Given the description of an element on the screen output the (x, y) to click on. 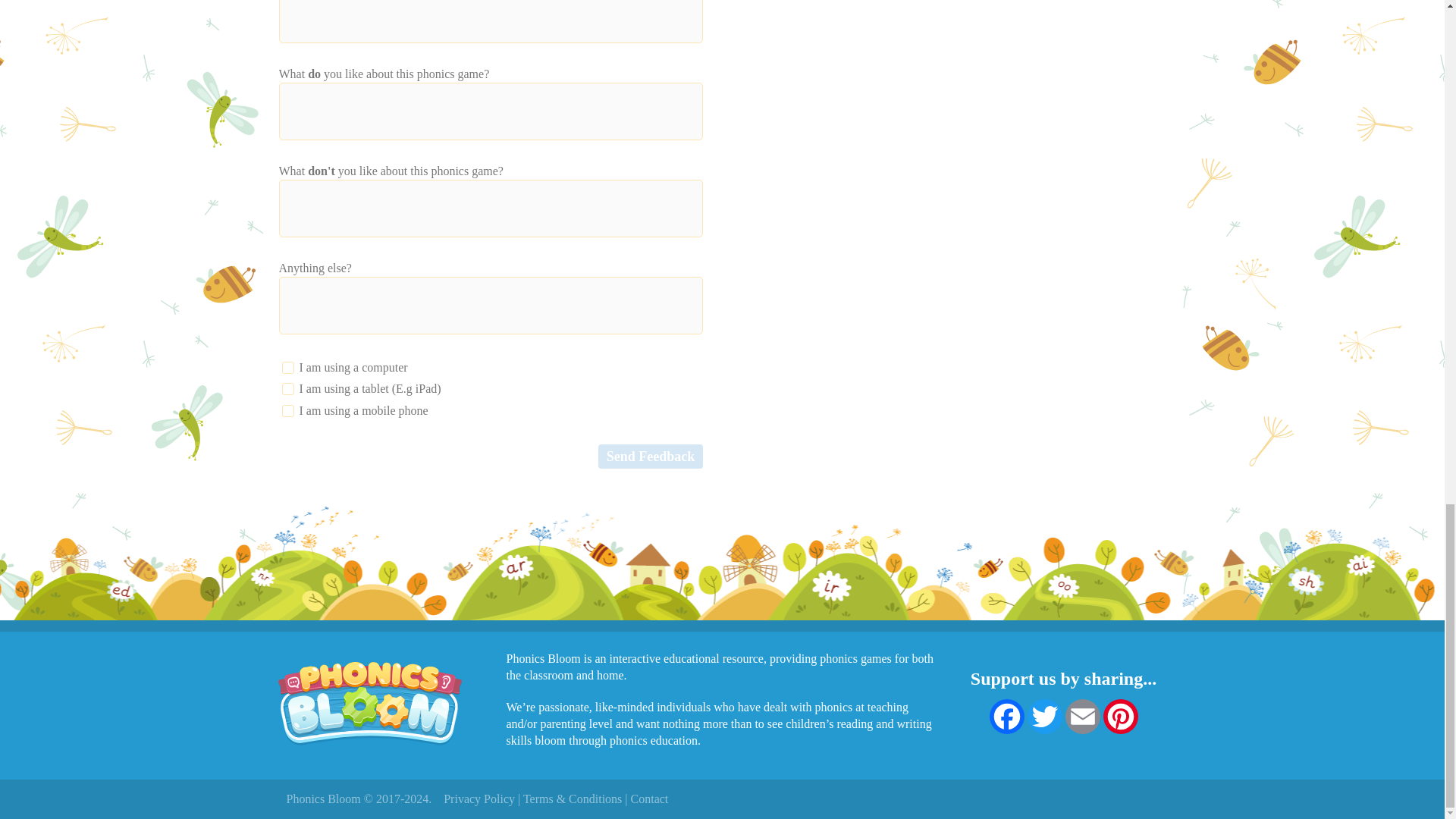
Send Feedback (650, 456)
on (288, 410)
on (288, 388)
on (288, 367)
